Given the description of an element on the screen output the (x, y) to click on. 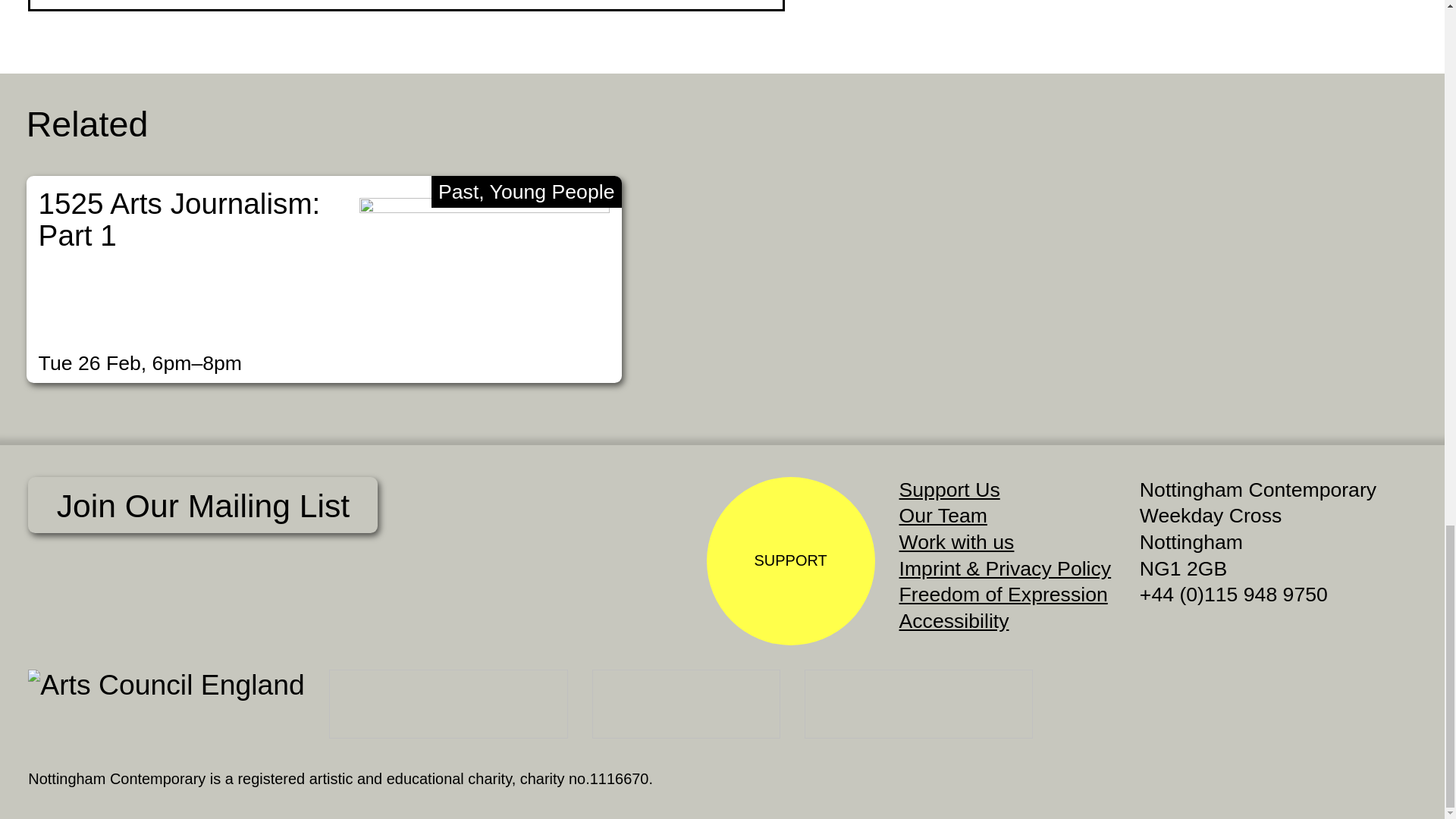
SUPPORT (790, 560)
Work with us (956, 541)
Freedom of Expression (1003, 594)
Accessibility (954, 620)
Support Us (949, 489)
Our Team (943, 515)
Join Our Mailing List (202, 504)
